Given the description of an element on the screen output the (x, y) to click on. 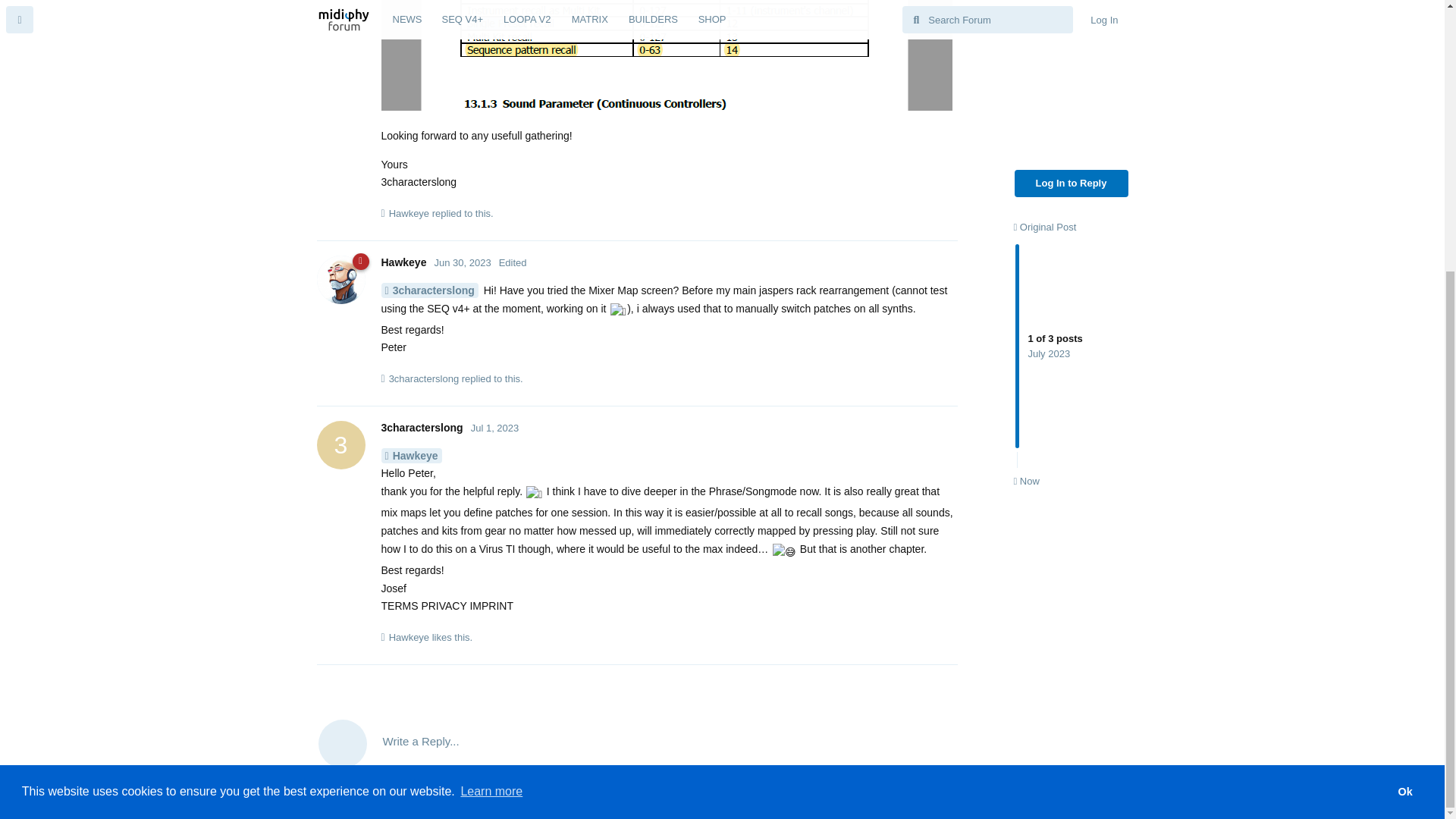
Jun 30, 2023 (461, 262)
Now (1026, 84)
IMPRINT (1405, 410)
Learn more (491, 395)
Hawkeye (410, 455)
Hawkeye (403, 262)
Saturday, July 1, 2023 7:34 PM (494, 428)
3characterslong (424, 378)
Jul 1, 2023 (421, 427)
PRIVACY (494, 428)
Ok (1071, 35)
Hawkeye (1353, 410)
TERMS (1404, 395)
